Given the description of an element on the screen output the (x, y) to click on. 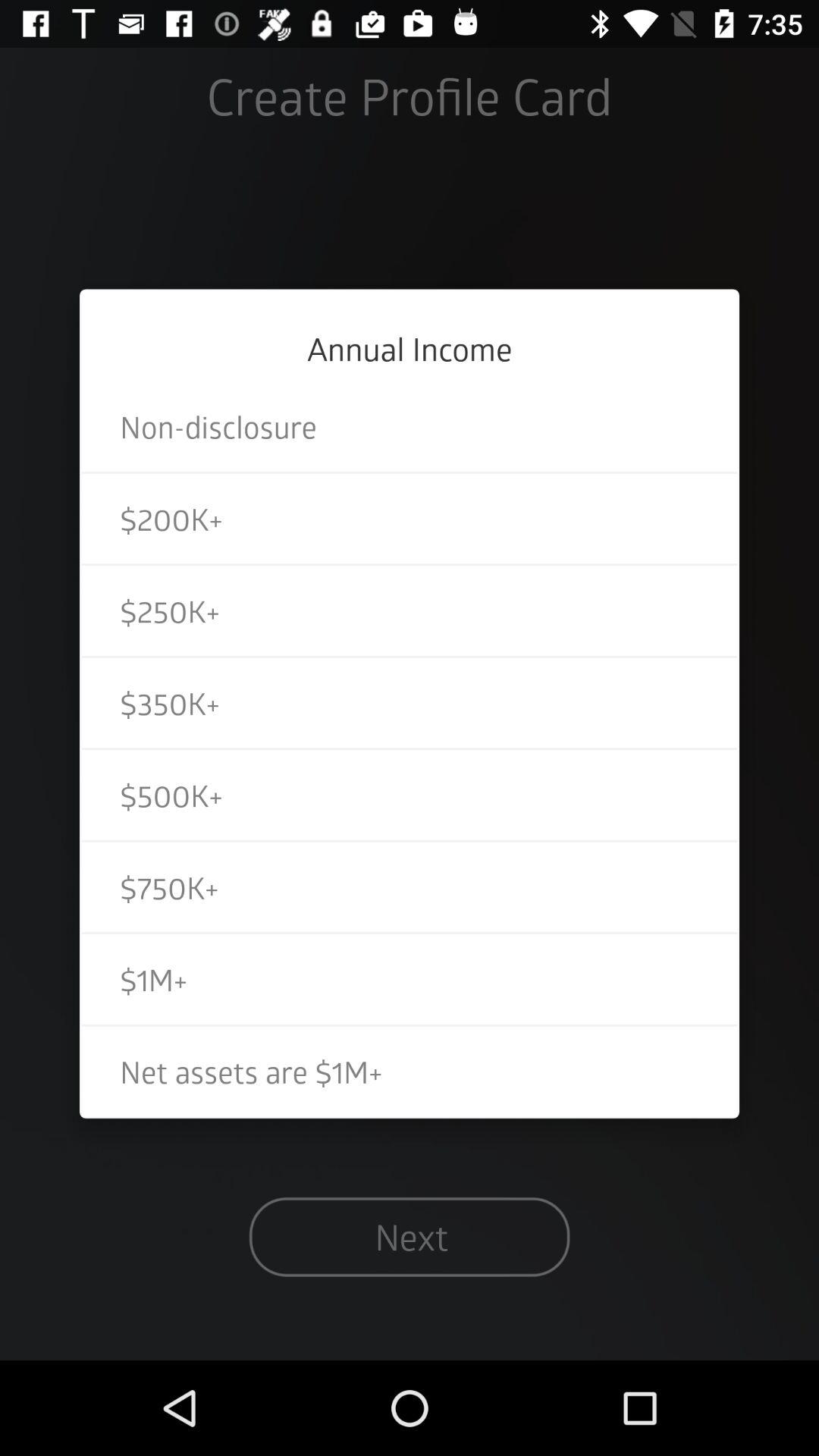
click icon below the $500k+ item (409, 887)
